Given the description of an element on the screen output the (x, y) to click on. 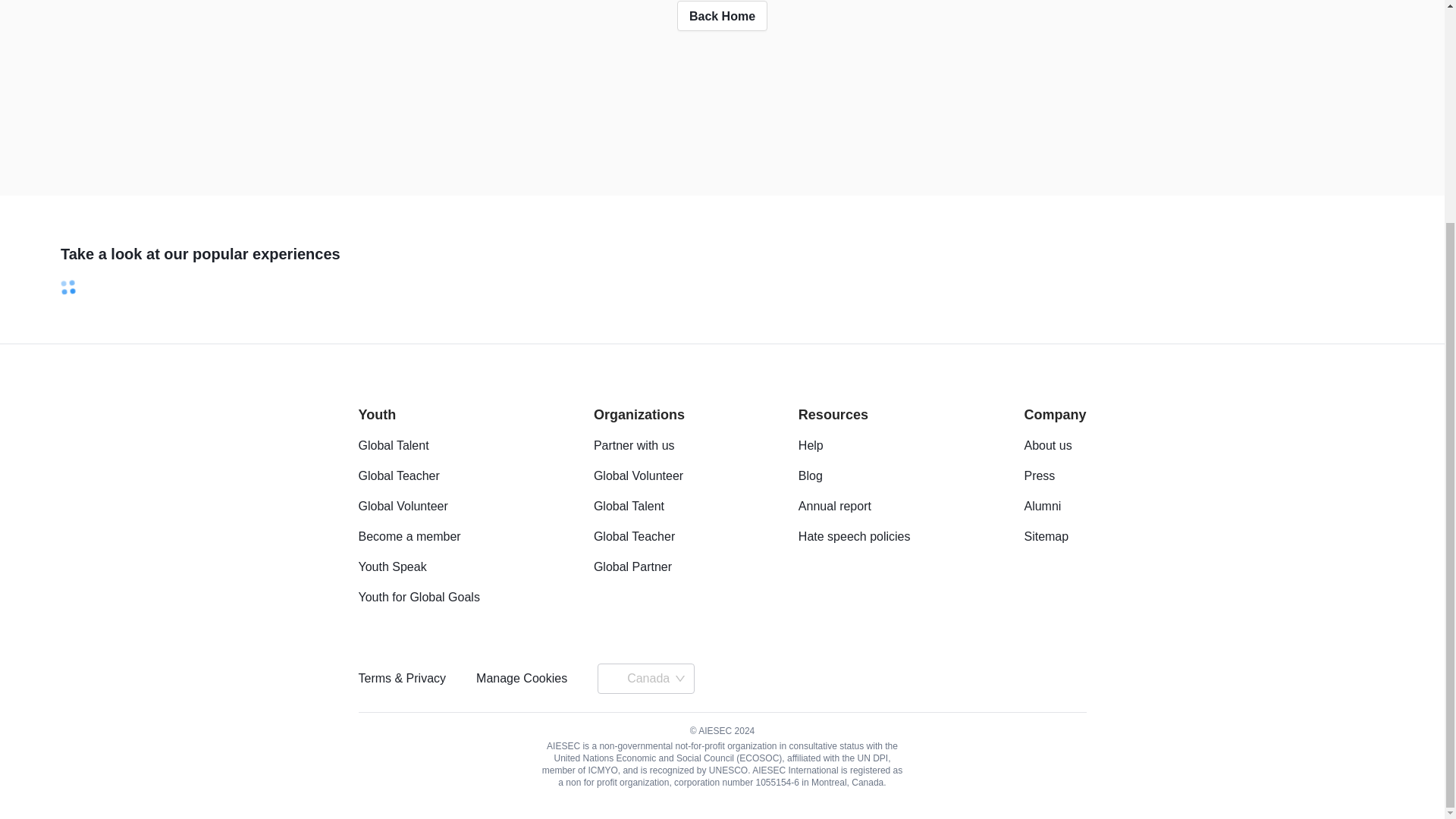
Press (1038, 475)
Blog (809, 475)
Partner with us (634, 445)
Global Teacher (398, 475)
Annual report (833, 505)
Hate speech policies (854, 535)
Become a member (409, 535)
Global Volunteer (402, 505)
Canada (657, 678)
Global Partner (632, 566)
